Given the description of an element on the screen output the (x, y) to click on. 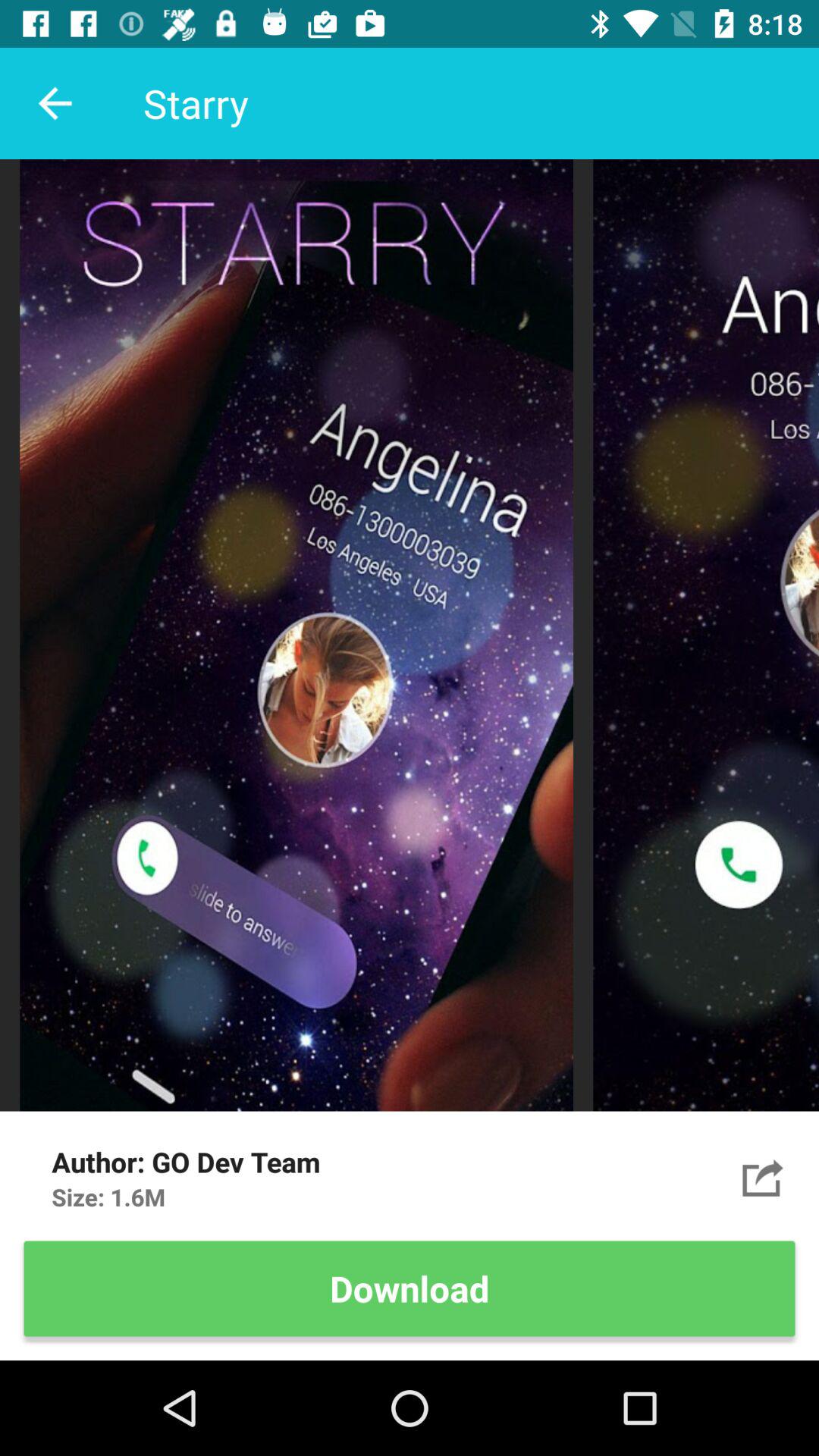
angelina calling (763, 1177)
